Given the description of an element on the screen output the (x, y) to click on. 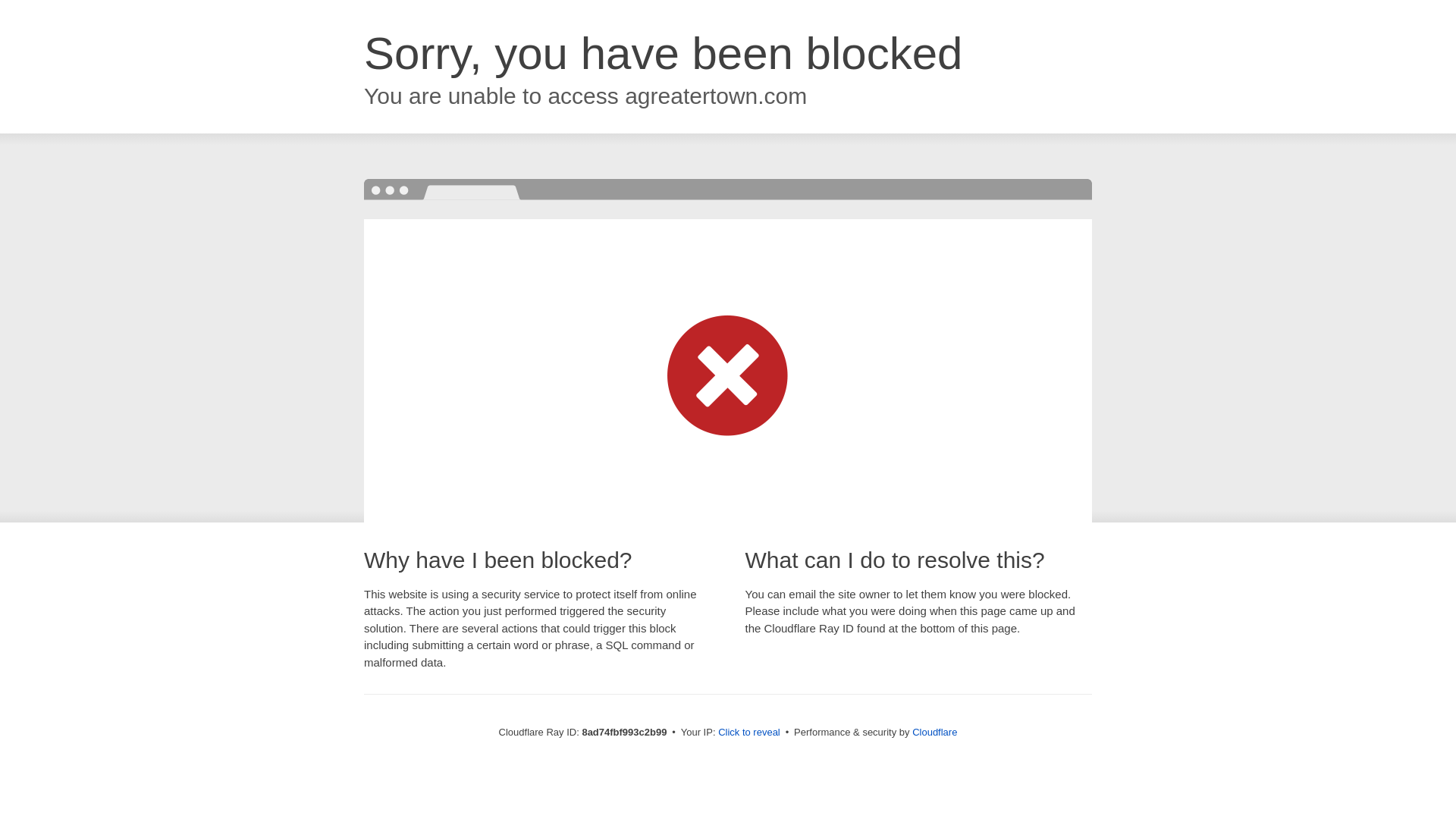
Cloudflare (877, 731)
